Given the description of an element on the screen output the (x, y) to click on. 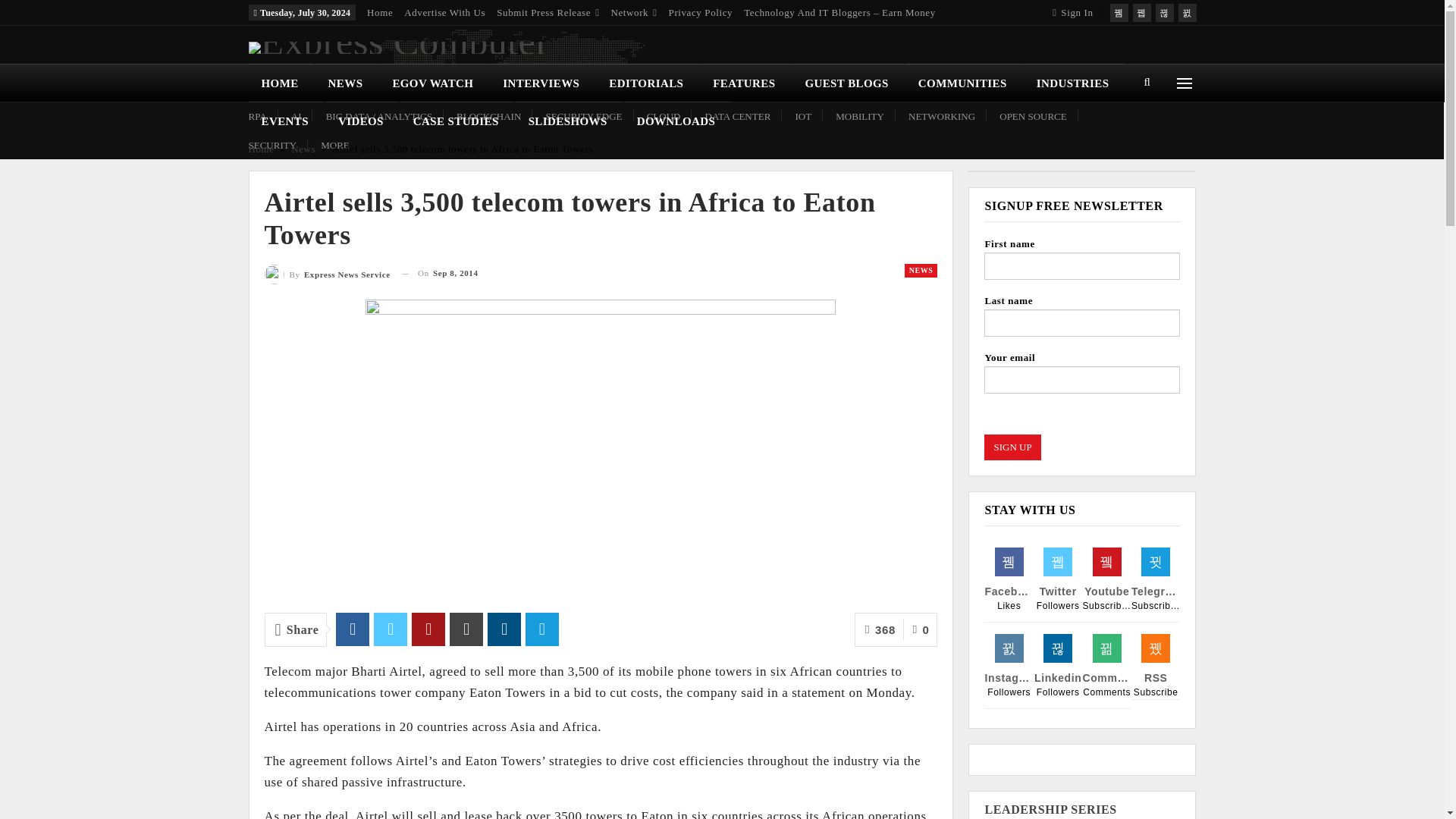
Home (379, 12)
HOME (281, 83)
NETWORKING (941, 116)
BLOCKCHAIN (489, 116)
Privacy Policy (700, 12)
DATA CENTER (737, 116)
Advertise With Us (444, 12)
MOBILITY (859, 116)
MORE (334, 144)
IOT (802, 116)
Network (634, 12)
OPEN SOURCE (1032, 116)
Sign In (1075, 12)
AI (296, 116)
SECURITY (272, 144)
